Given the description of an element on the screen output the (x, y) to click on. 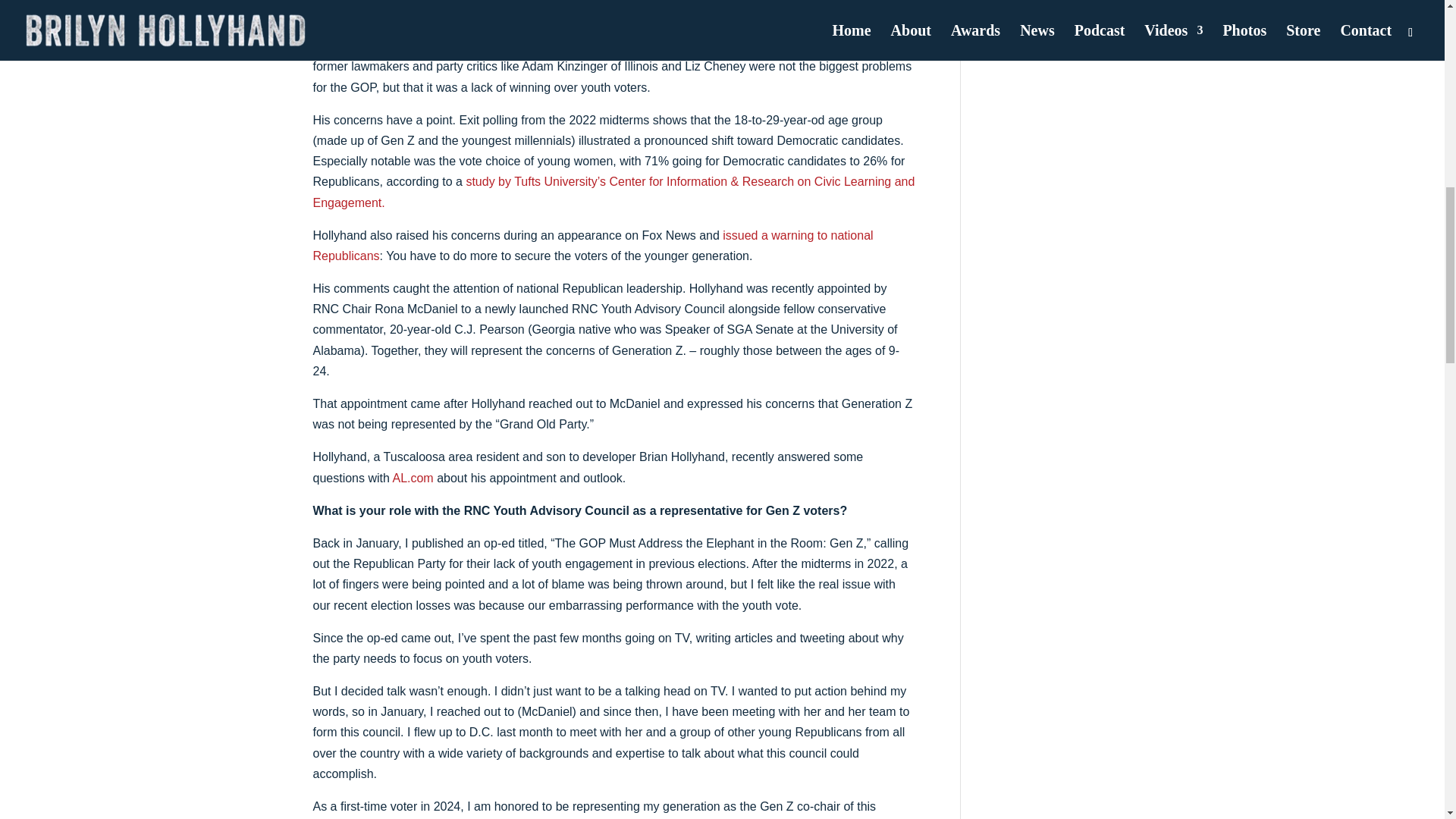
AL.com (411, 477)
issued a warning to national Republicans (592, 245)
